Given the description of an element on the screen output the (x, y) to click on. 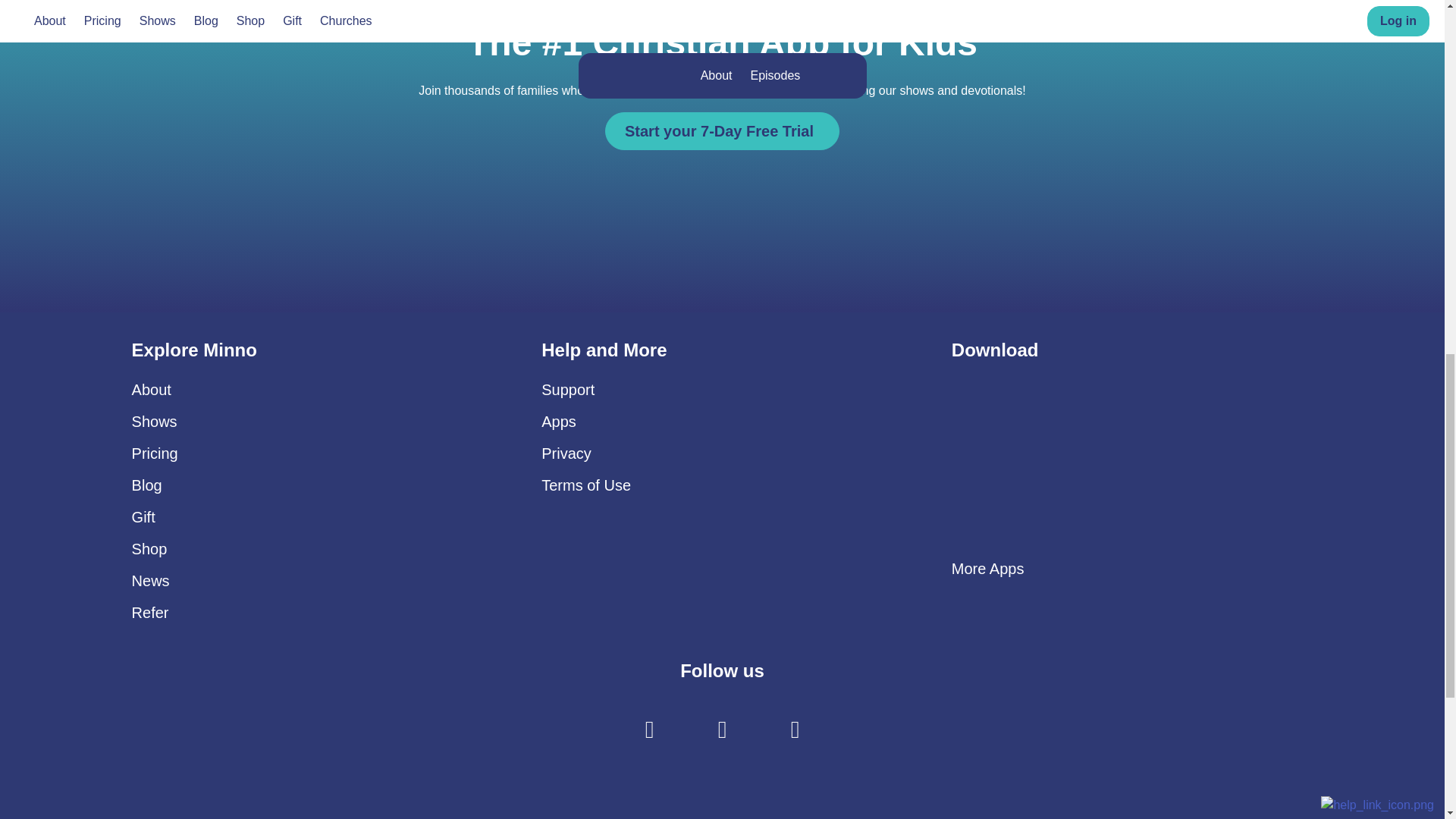
Apps (558, 421)
News (151, 580)
Gift (143, 516)
More Apps (988, 568)
Terms of Use (585, 484)
Support (567, 389)
Refer (150, 612)
Shows (154, 421)
Shop (149, 548)
About (151, 389)
